Given the description of an element on the screen output the (x, y) to click on. 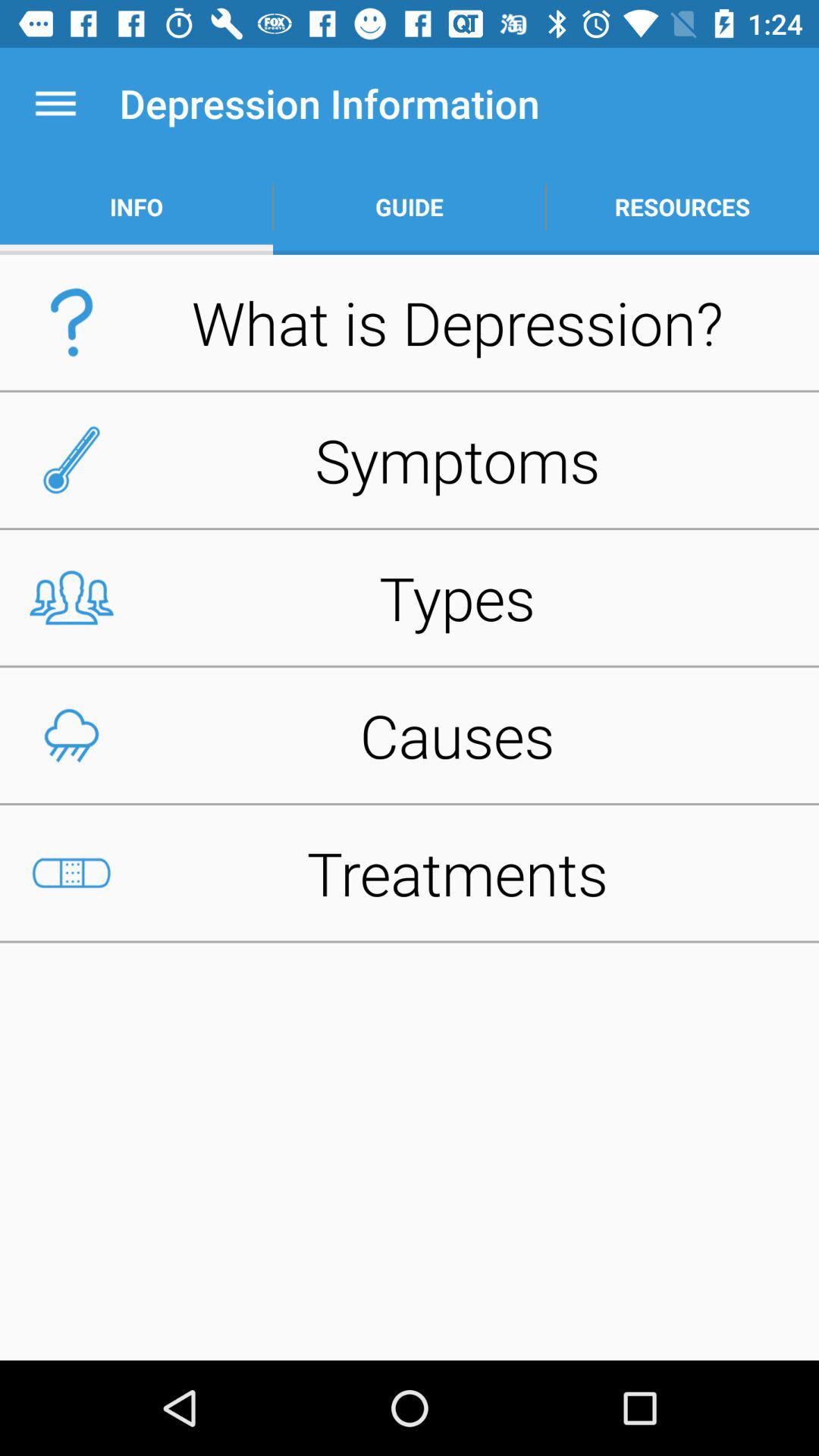
turn on the item below the depression information icon (409, 206)
